Given the description of an element on the screen output the (x, y) to click on. 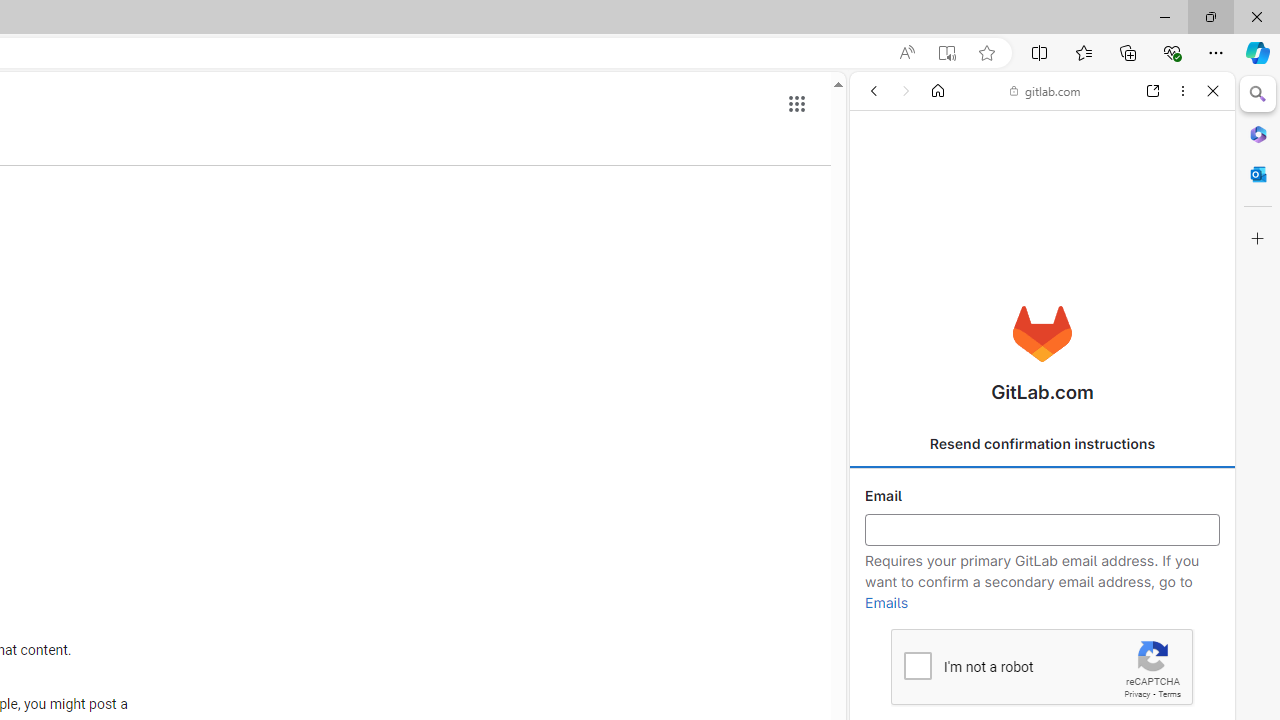
About GitLab (1042, 592)
Search Filter, Search Tools (1090, 228)
Terms (1169, 694)
Dashboard (1042, 641)
Search Filter, ALL (881, 228)
gitlab.com (1045, 90)
Confirmation Page (1042, 690)
